Given the description of an element on the screen output the (x, y) to click on. 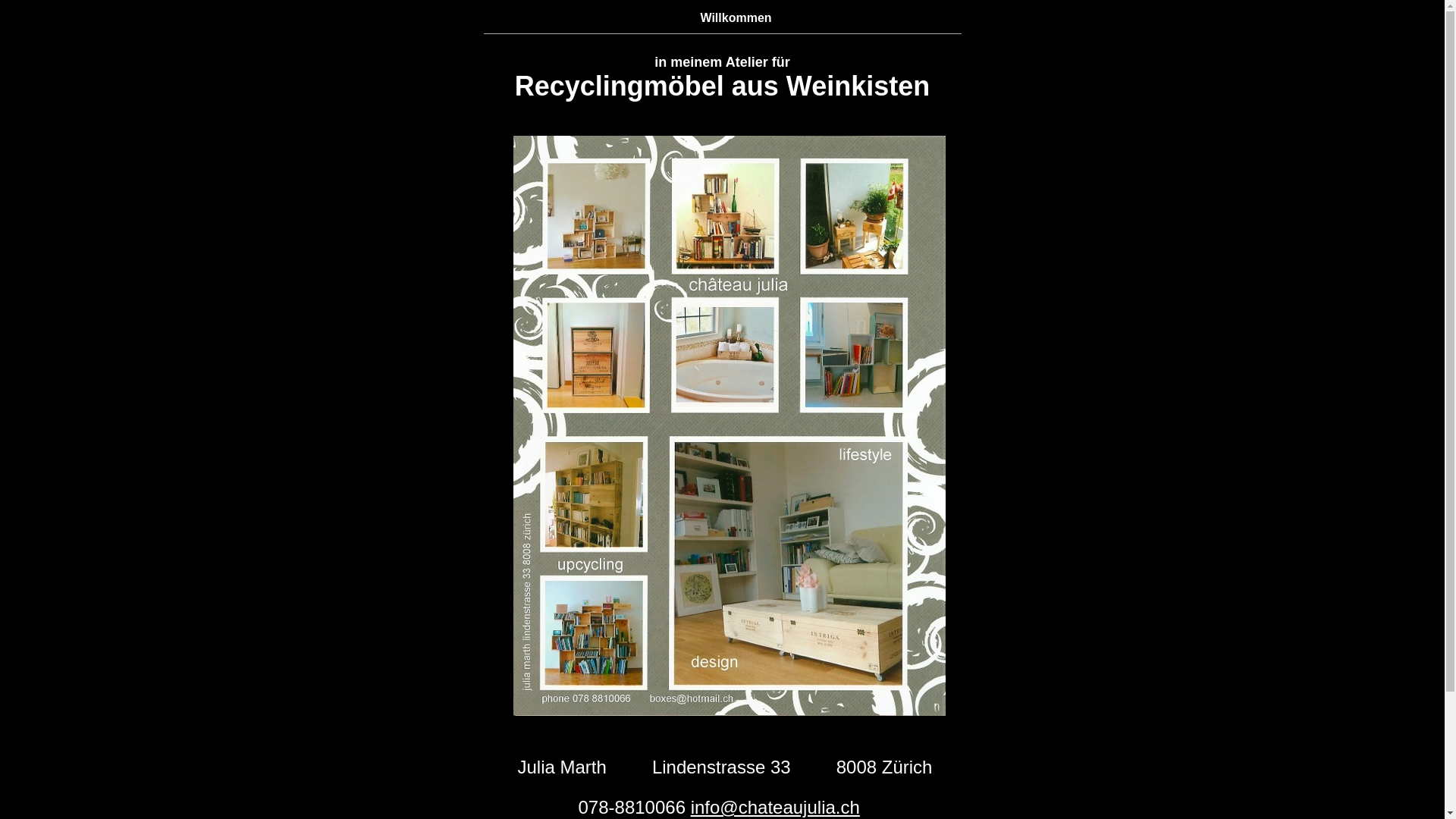
info@chateaujulia.ch Element type: text (774, 807)
Willkommen Element type: text (735, 17)
